Given the description of an element on the screen output the (x, y) to click on. 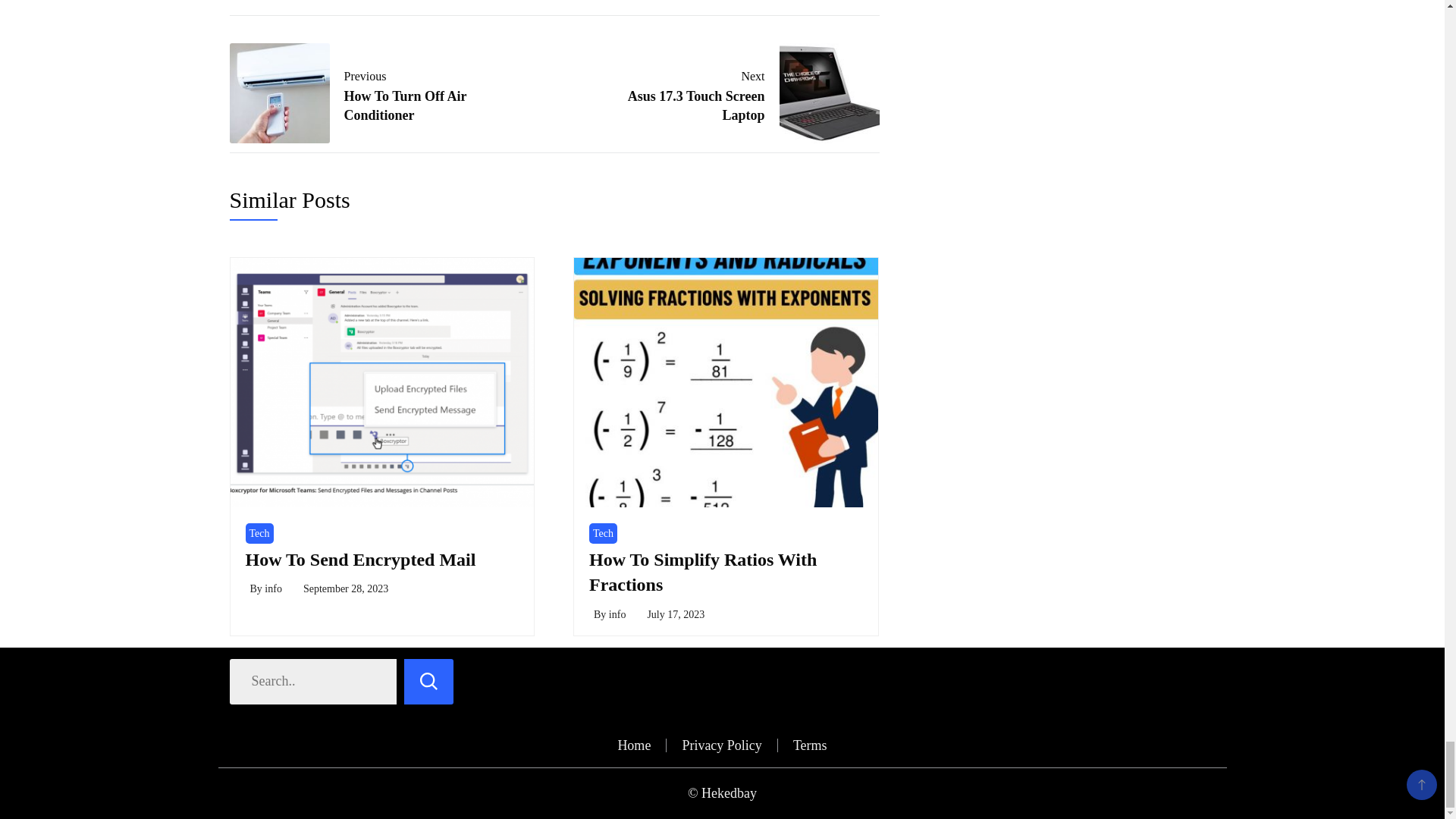
info (617, 614)
September 28, 2023 (345, 588)
Tech (259, 533)
How To Simplify Ratios With Fractions (702, 572)
Tech (368, 92)
info (603, 533)
How To Send Encrypted Mail (273, 588)
July 17, 2023 (739, 92)
